Given the description of an element on the screen output the (x, y) to click on. 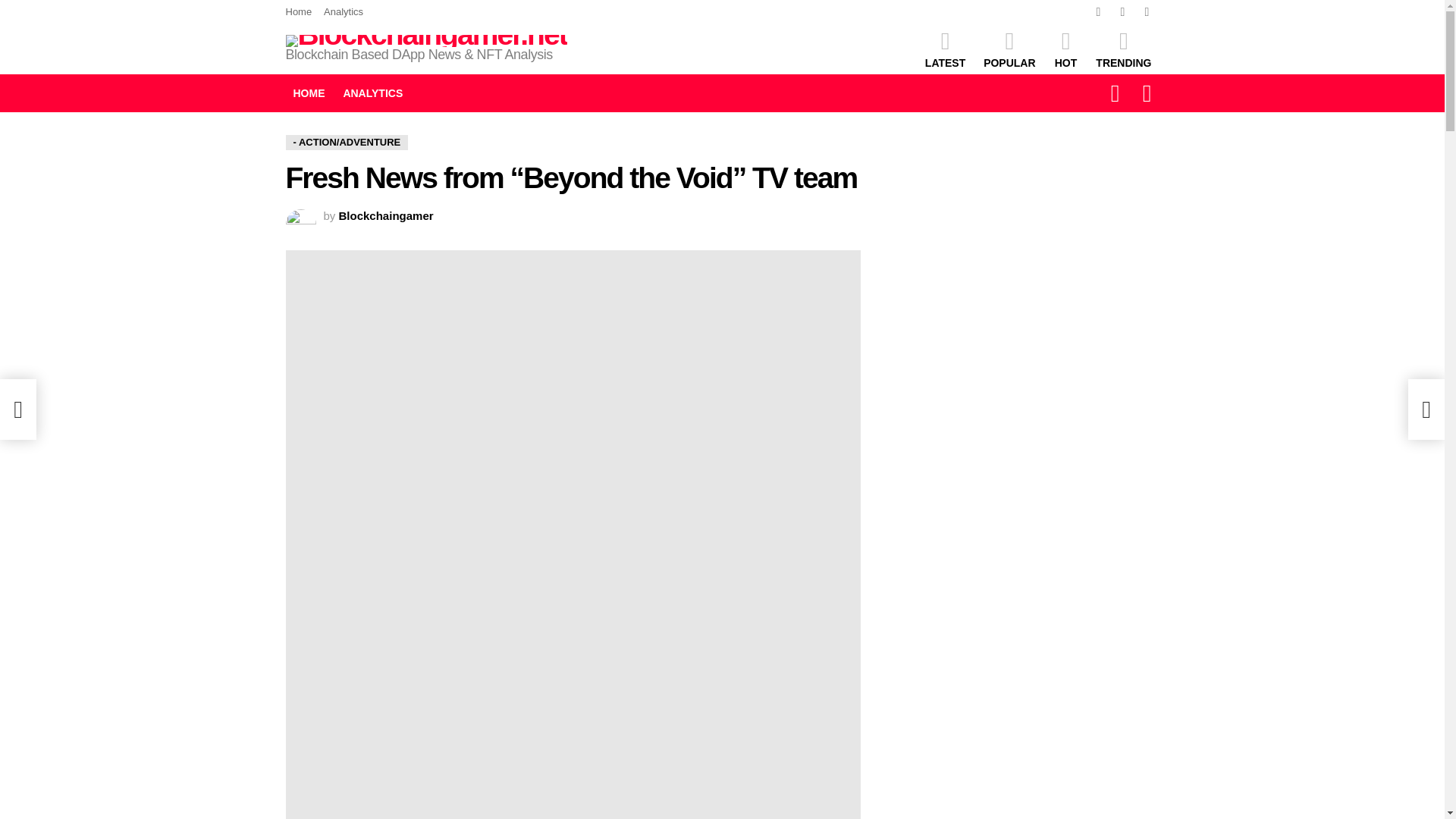
Instagram (1097, 11)
Posts by Blockchaingamer (386, 215)
Home (298, 12)
LATEST (944, 48)
Blockchaingamer (386, 215)
YouTube (1146, 11)
TRENDING (1122, 48)
HOME (308, 92)
ANALYTICS (372, 92)
Twitter (1121, 11)
